Given the description of an element on the screen output the (x, y) to click on. 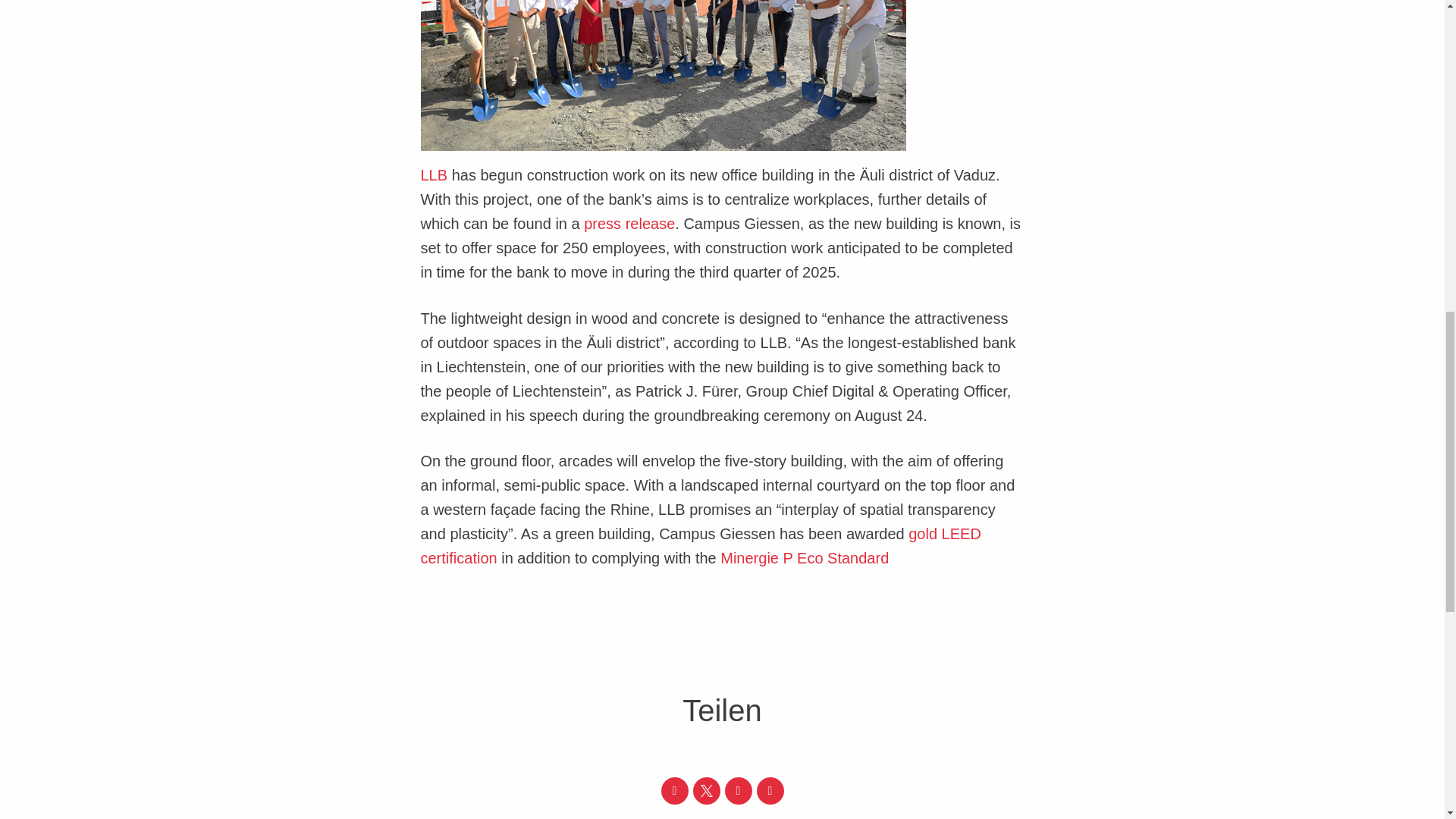
press release (629, 223)
Minergie P Eco Standard (804, 557)
gold LEED certification (699, 545)
LLB (433, 175)
